Given the description of an element on the screen output the (x, y) to click on. 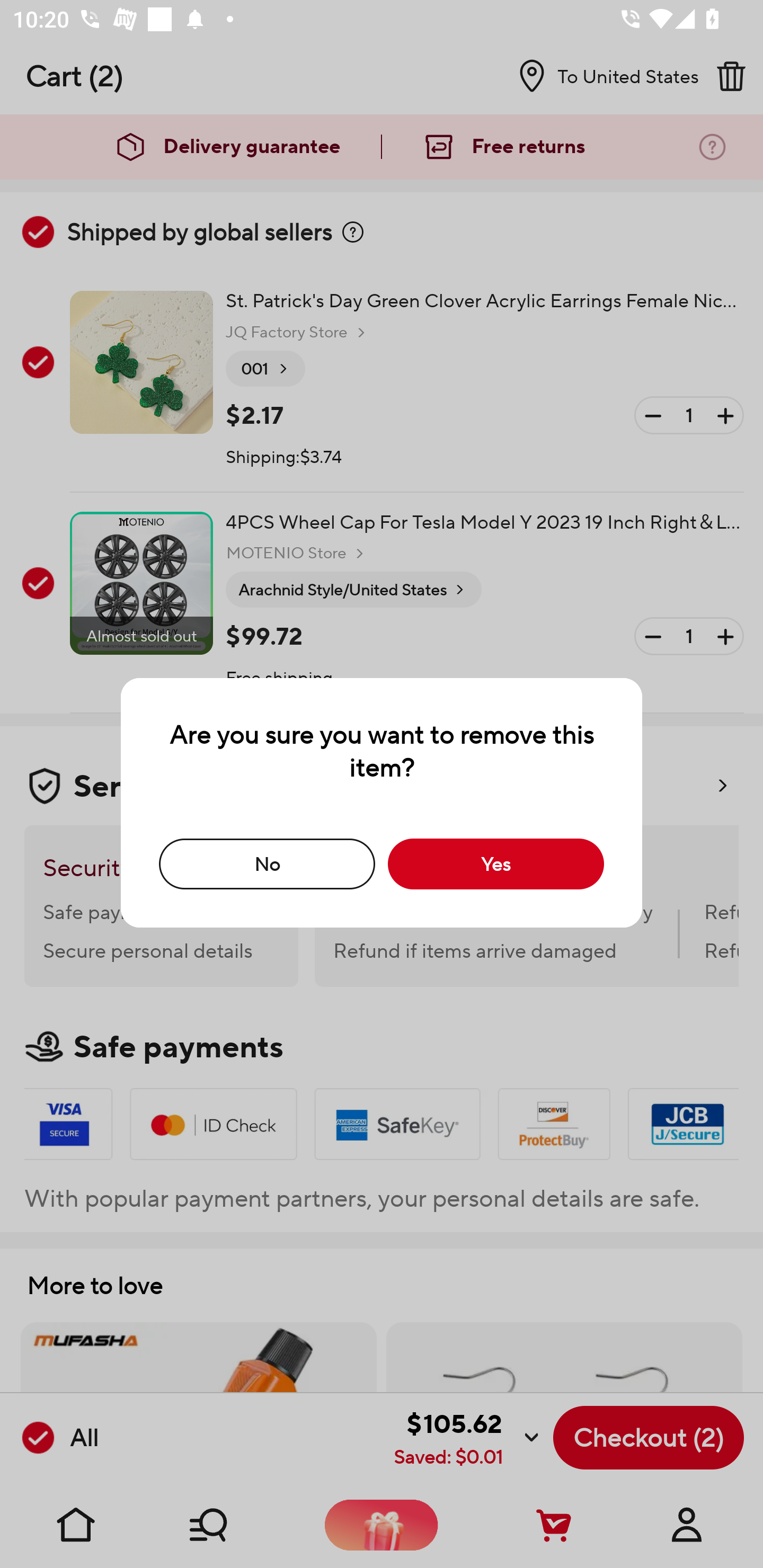
No (266, 863)
Yes (495, 863)
